Given the description of an element on the screen output the (x, y) to click on. 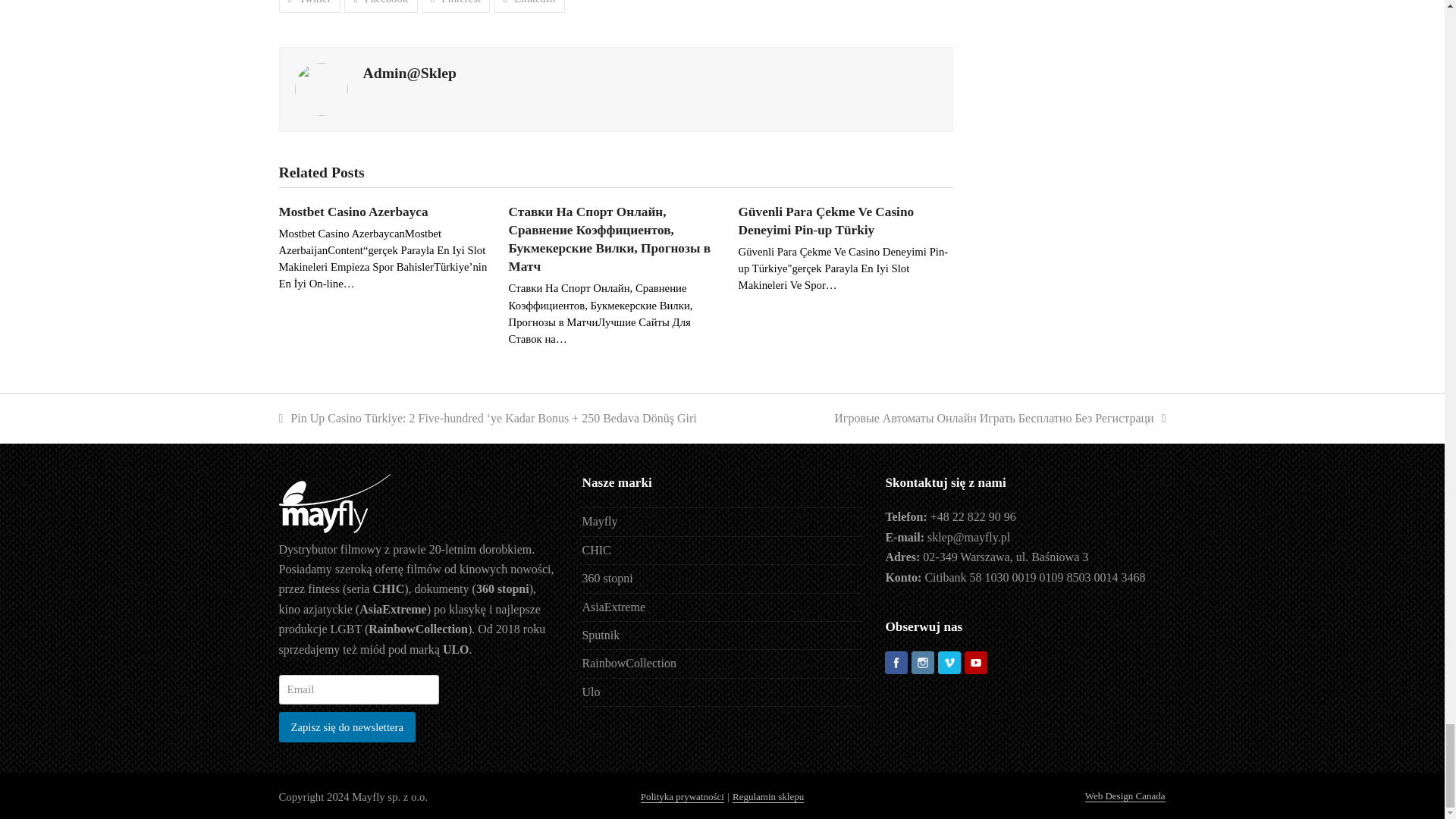
Youtube (975, 663)
Visit Author Page (320, 88)
Homepage (334, 528)
Visit Author Page (408, 72)
Vimeo (948, 663)
Instagram (922, 663)
Facebook (896, 663)
